Given the description of an element on the screen output the (x, y) to click on. 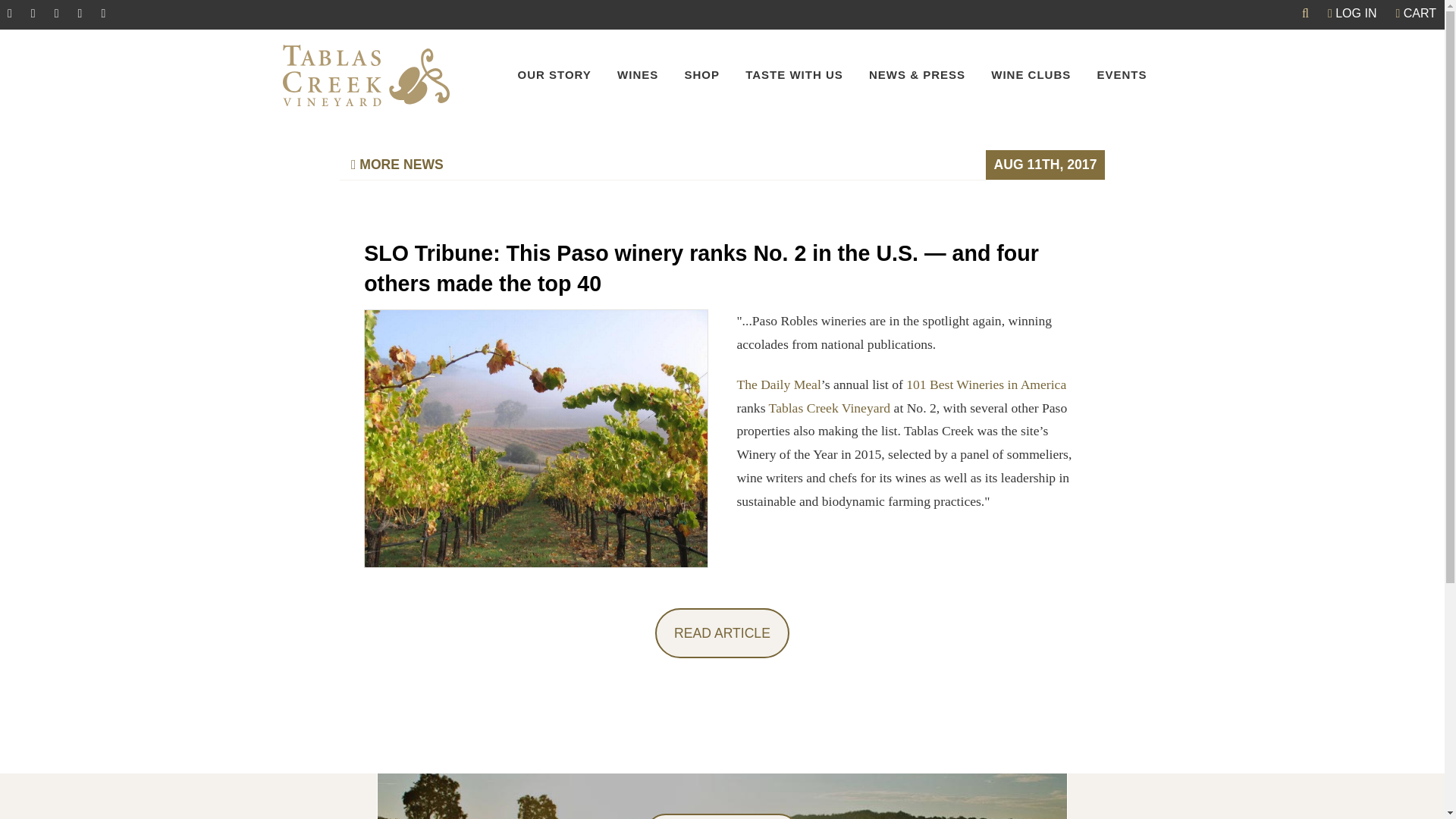
SHOP (701, 74)
CART (1415, 14)
WINES (637, 74)
OUR STORY (553, 74)
TASTE WITH US (794, 74)
LOG IN (1352, 14)
